Given the description of an element on the screen output the (x, y) to click on. 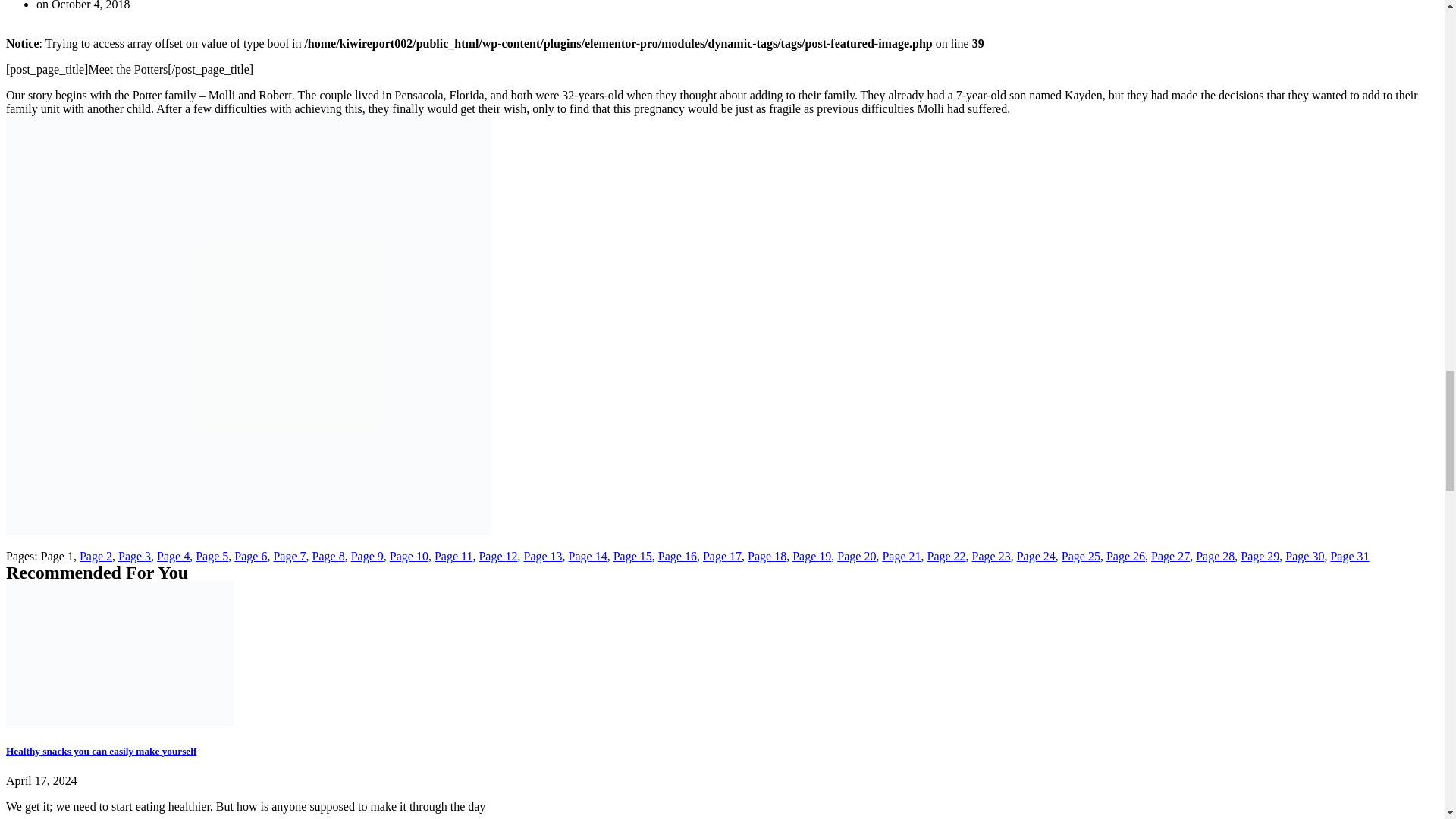
Page 22 (945, 555)
Page 18 (767, 555)
Page 8 (329, 555)
Page 5 (211, 555)
Page 6 (250, 555)
Page 12 (497, 555)
Page 16 (677, 555)
Page 4 (173, 555)
Page 3 (134, 555)
Page 7 (289, 555)
